Given the description of an element on the screen output the (x, y) to click on. 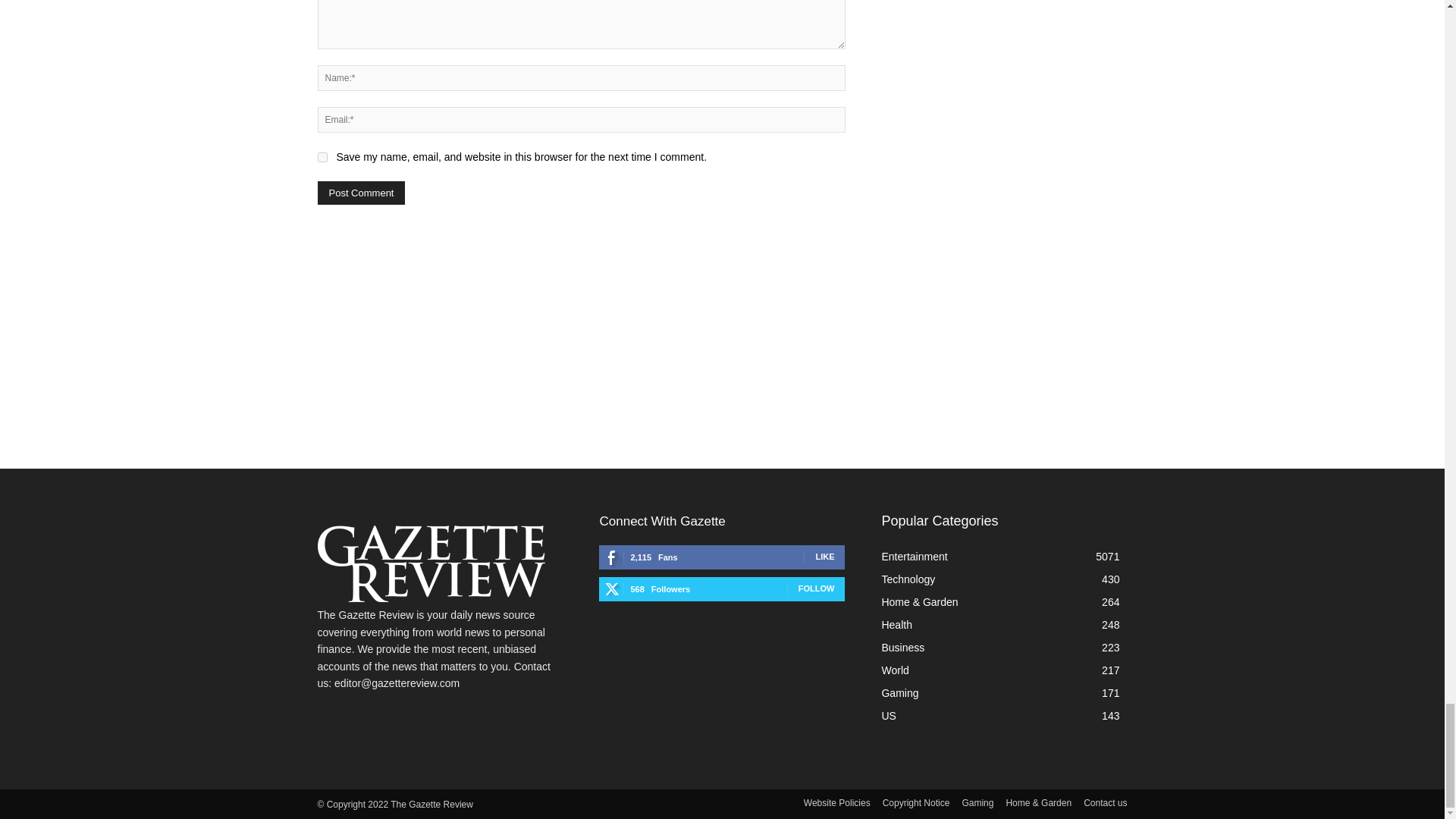
Post Comment (360, 192)
yes (321, 157)
